Given the description of an element on the screen output the (x, y) to click on. 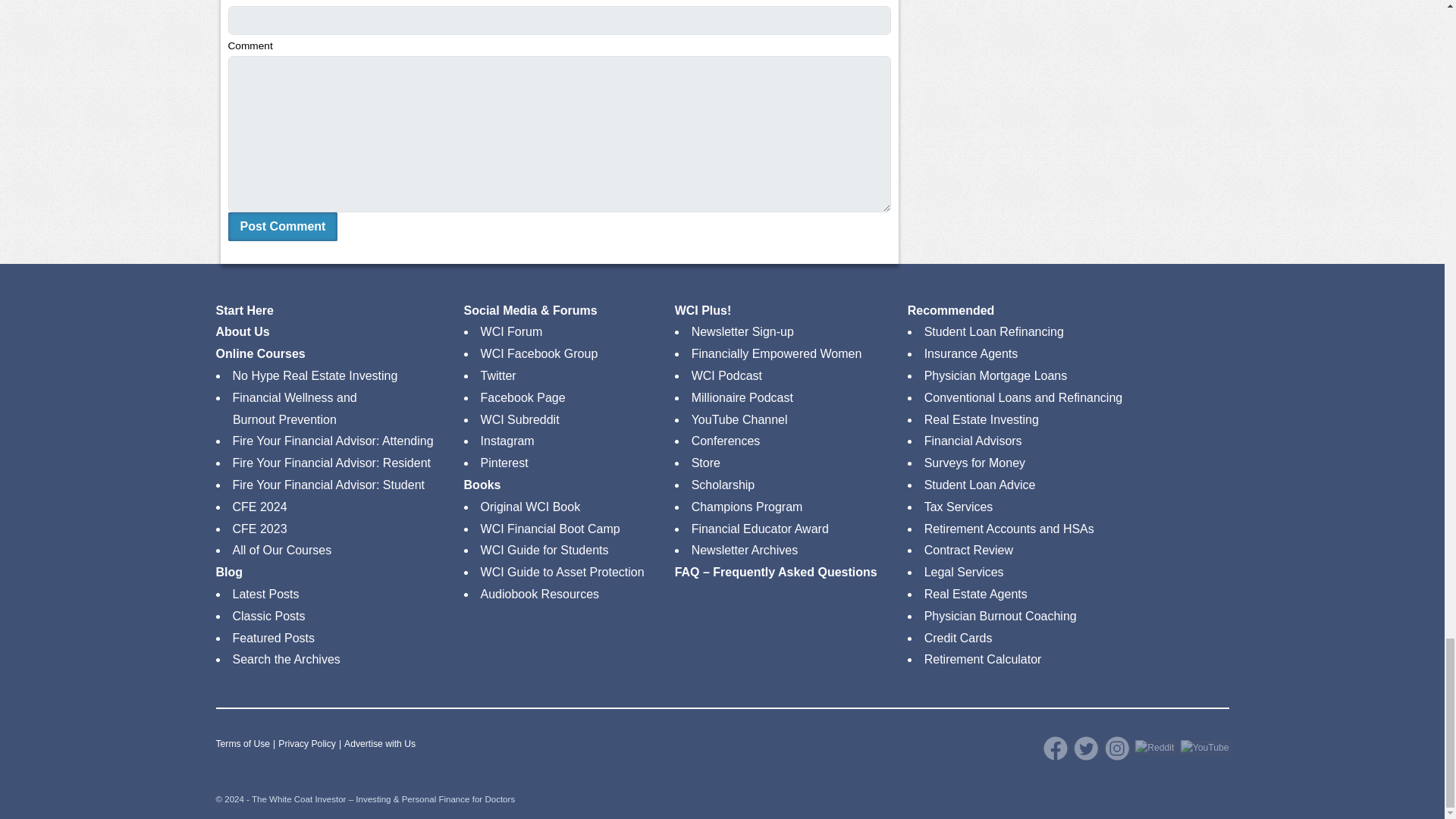
Reddit (1154, 748)
Instagram (1117, 748)
YouTube (1204, 748)
Post Comment (282, 226)
Twitter (1085, 748)
Facebook (1055, 748)
